Given the description of an element on the screen output the (x, y) to click on. 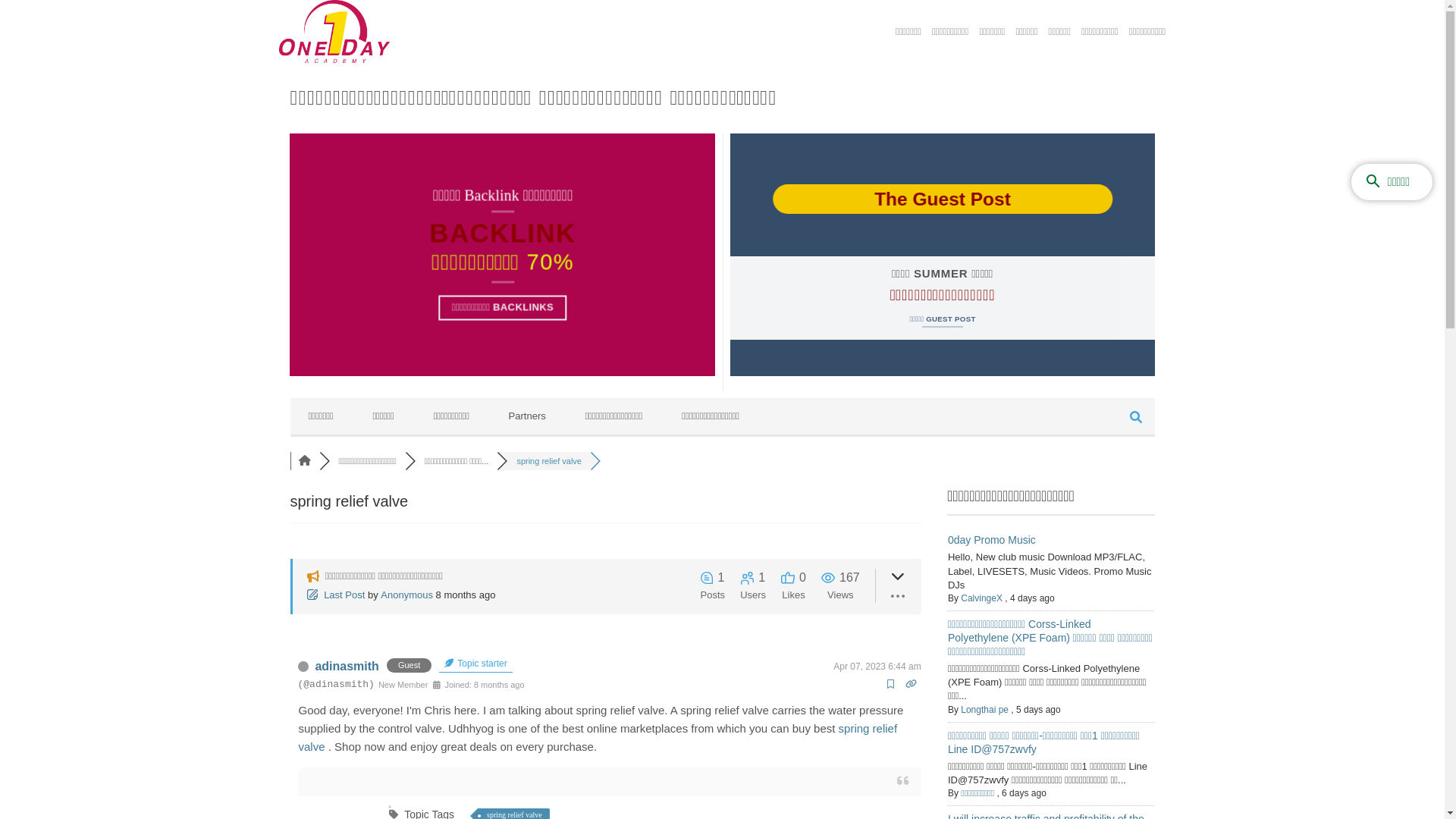
CalvingeX Element type: text (981, 598)
Offline Element type: hover (302, 666)
Longthai pe Element type: text (984, 709)
Forums Element type: hover (304, 460)
Anonymous Element type: text (406, 594)
Last Post Element type: text (336, 594)
adinasmith Element type: text (346, 665)
Partners Element type: text (527, 416)
0day Promo Music Element type: text (991, 539)
spring relief valve Element type: text (597, 737)
